Given the description of an element on the screen output the (x, y) to click on. 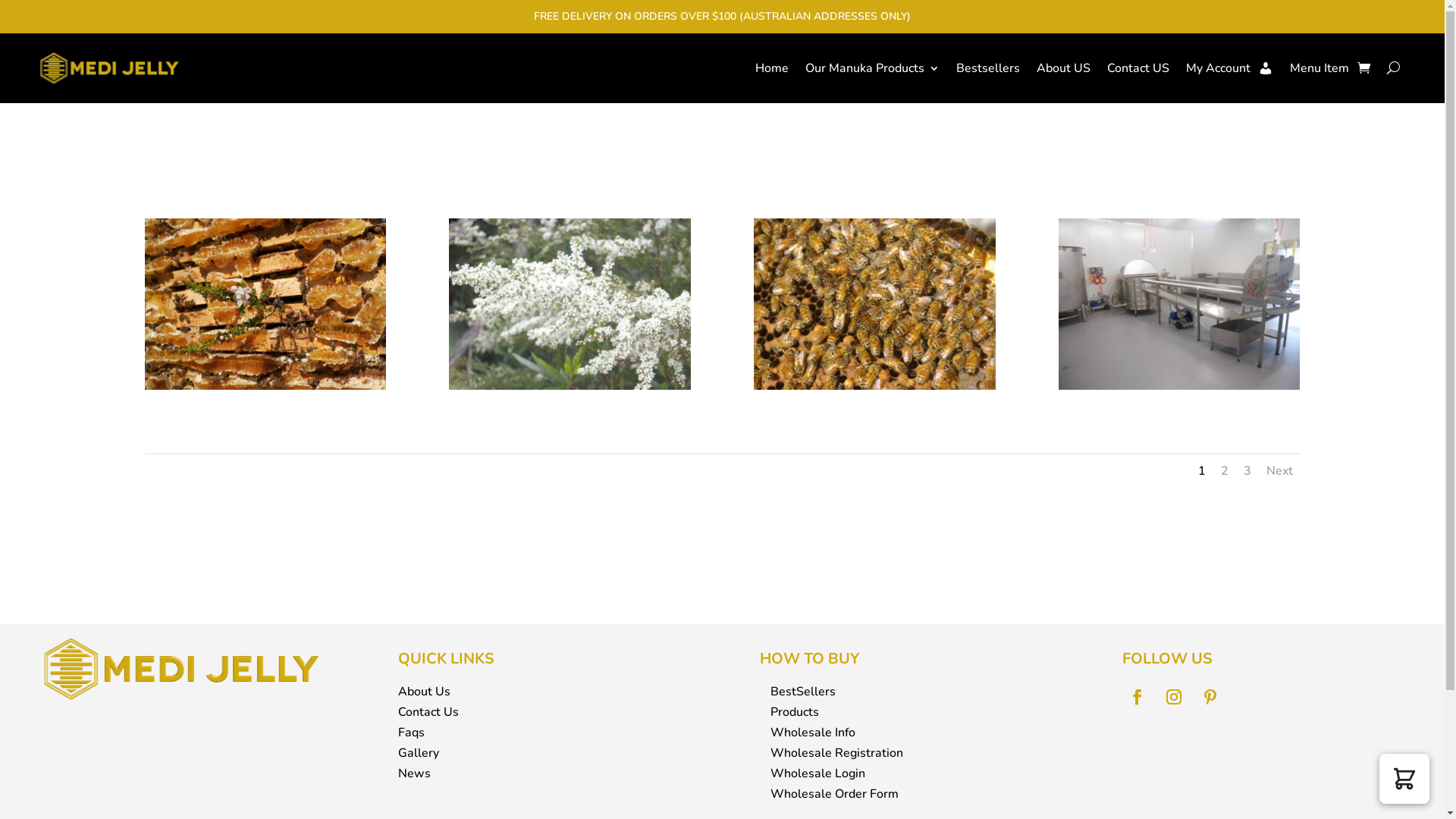
Wholesale Login Element type: text (817, 773)
IMGP3414 Element type: hover (569, 386)
Wholesale Order Form Element type: text (834, 793)
1 Element type: text (1201, 470)
Contact Us Element type: text (428, 711)
bg1 Element type: hover (264, 386)
Bestsellers Element type: text (987, 68)
Next Element type: text (1279, 470)
News Element type: text (414, 773)
About Us Element type: text (424, 691)
Faqs Element type: text (411, 732)
Wholesale Info Element type: text (812, 732)
Products Element type: text (794, 711)
medi jelly logo Element type: hover (179, 669)
BestSellers Element type: text (802, 691)
Contact US Element type: text (1138, 68)
3 Element type: text (1247, 470)
About US Element type: text (1063, 68)
extraction Element type: hover (1178, 386)
Follow on Facebook Element type: hover (1137, 696)
bees Element type: hover (873, 386)
Home Element type: text (771, 68)
Menu Item Element type: text (1319, 68)
Wholesale Registration Element type: text (836, 752)
My Account Element type: text (1229, 68)
Follow on Pinterest Element type: hover (1210, 696)
2 Element type: text (1224, 470)
Follow on Instagram Element type: hover (1173, 696)
Gallery Element type: text (418, 752)
Our Manuka Products Element type: text (872, 68)
